Given the description of an element on the screen output the (x, y) to click on. 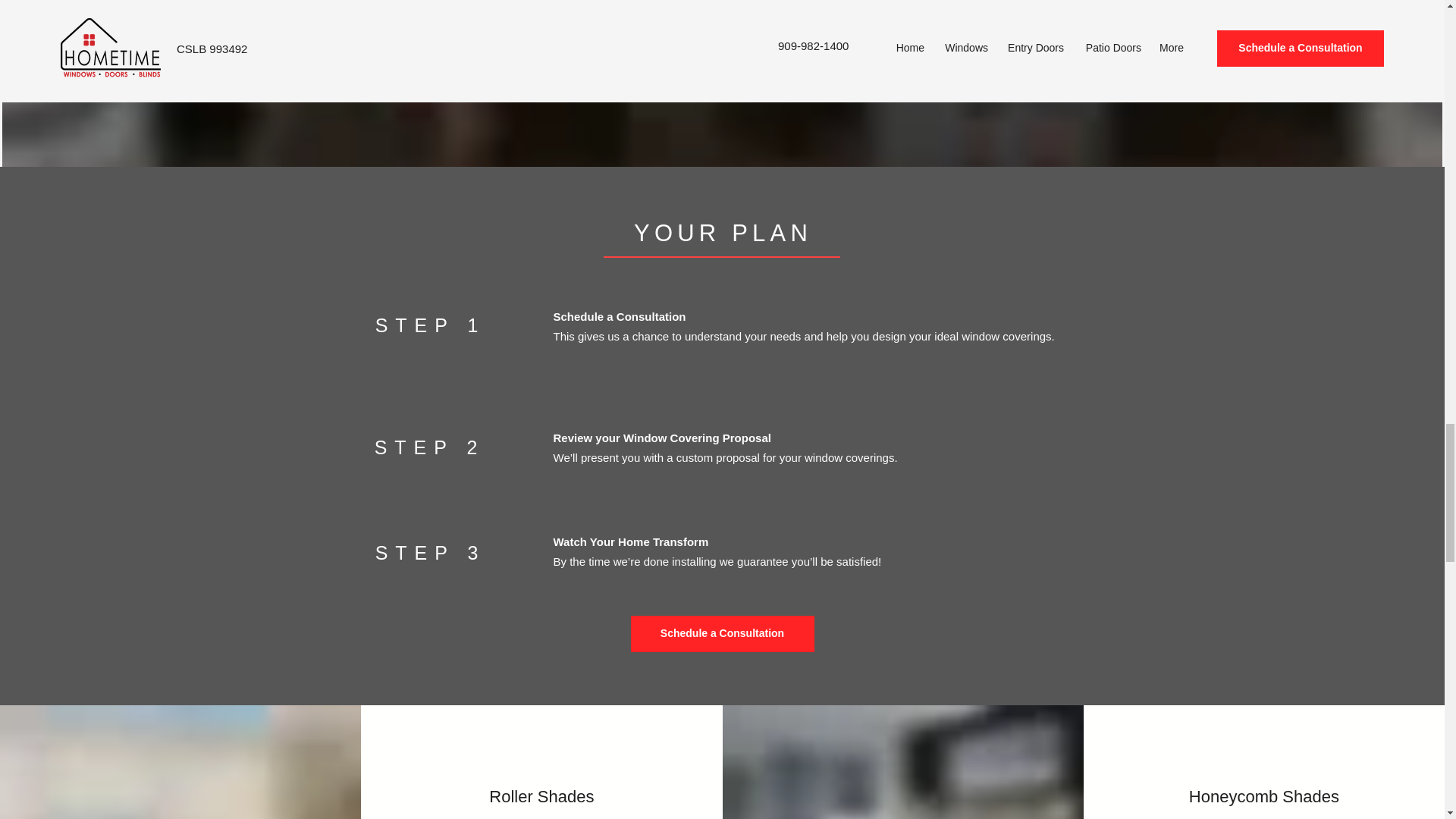
Honeycomb Shades (1264, 796)
Roller Shades (541, 796)
Schedule a Consultation (721, 633)
